Given the description of an element on the screen output the (x, y) to click on. 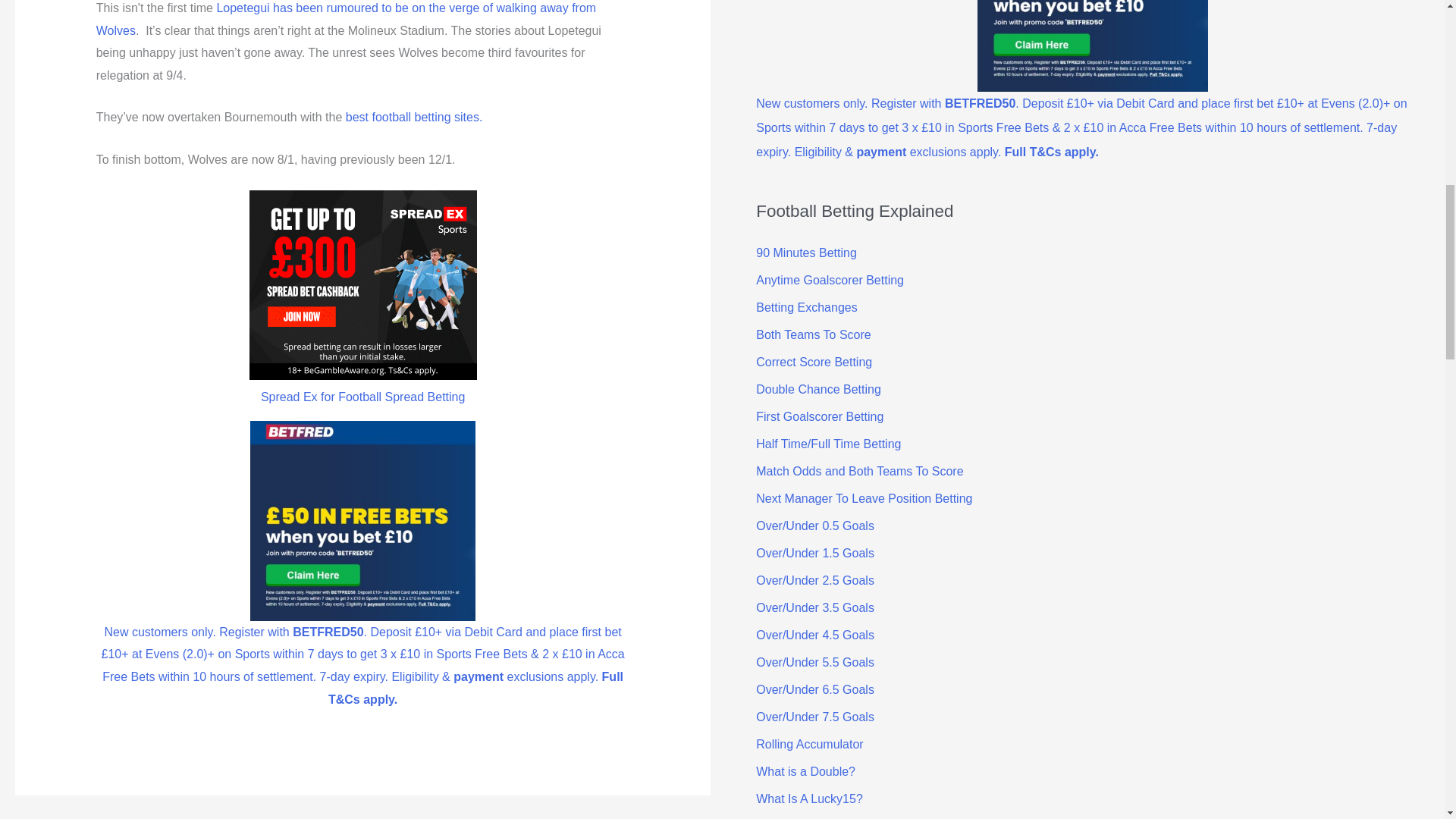
How Anytime Goalscorer Betting Works (829, 279)
Correct Score Betting Explained (813, 361)
